Given the description of an element on the screen output the (x, y) to click on. 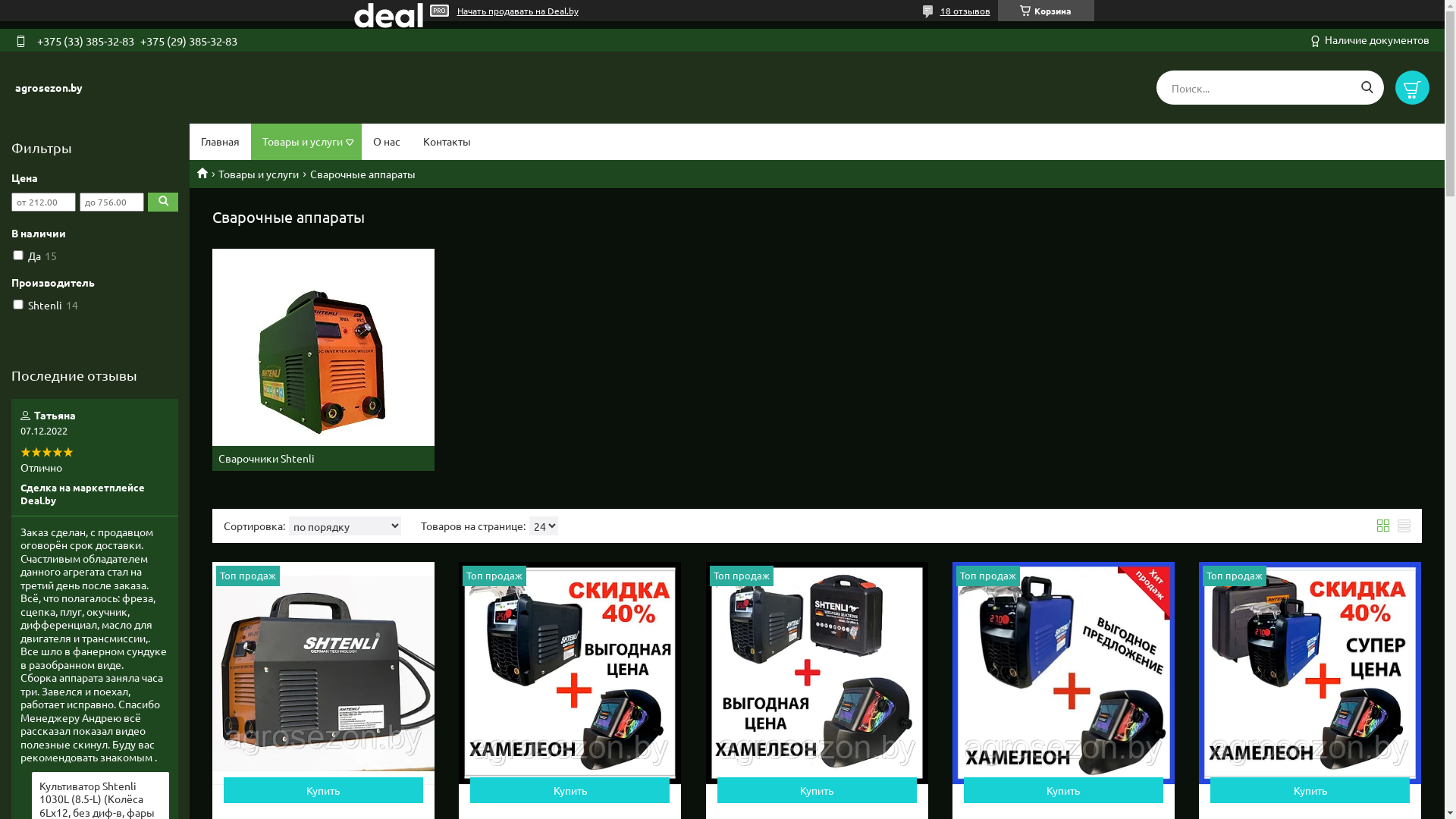
Agrosezon.by Element type: hover (207, 172)
